Given the description of an element on the screen output the (x, y) to click on. 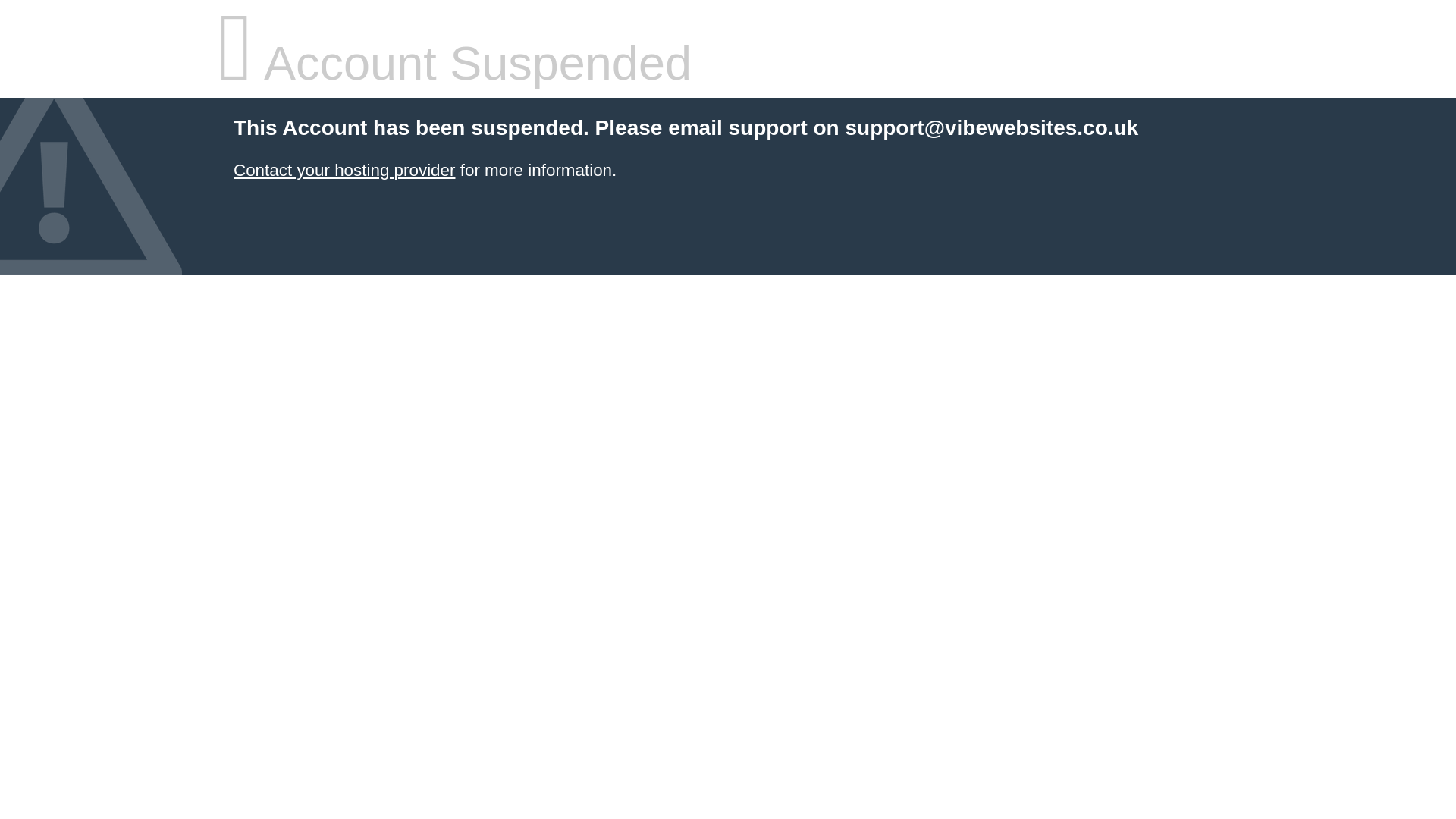
Contact your hosting provider (343, 169)
